Given the description of an element on the screen output the (x, y) to click on. 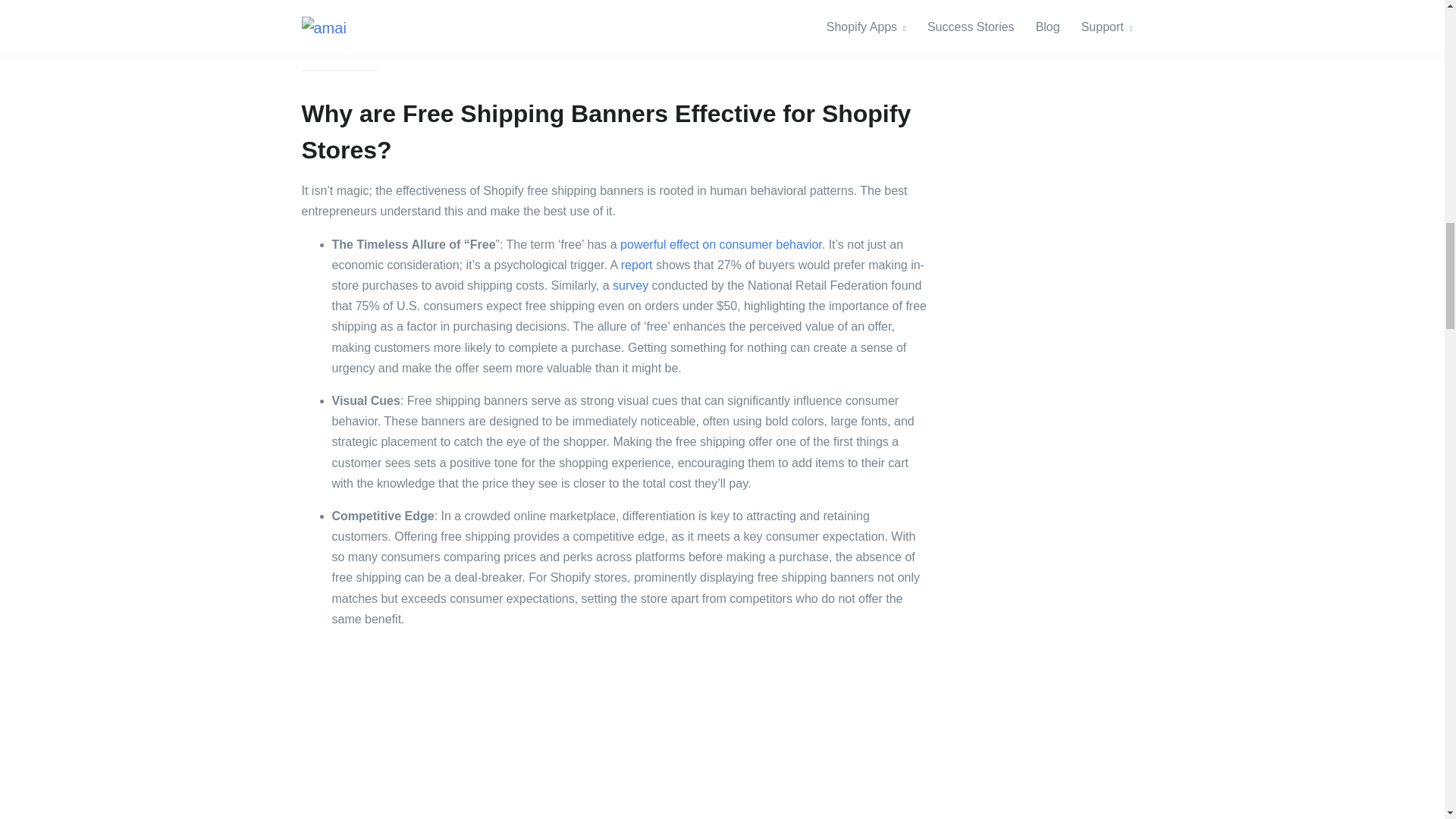
report (636, 264)
powerful effect on consumer behavior (721, 244)
survey (629, 285)
